Given the description of an element on the screen output the (x, y) to click on. 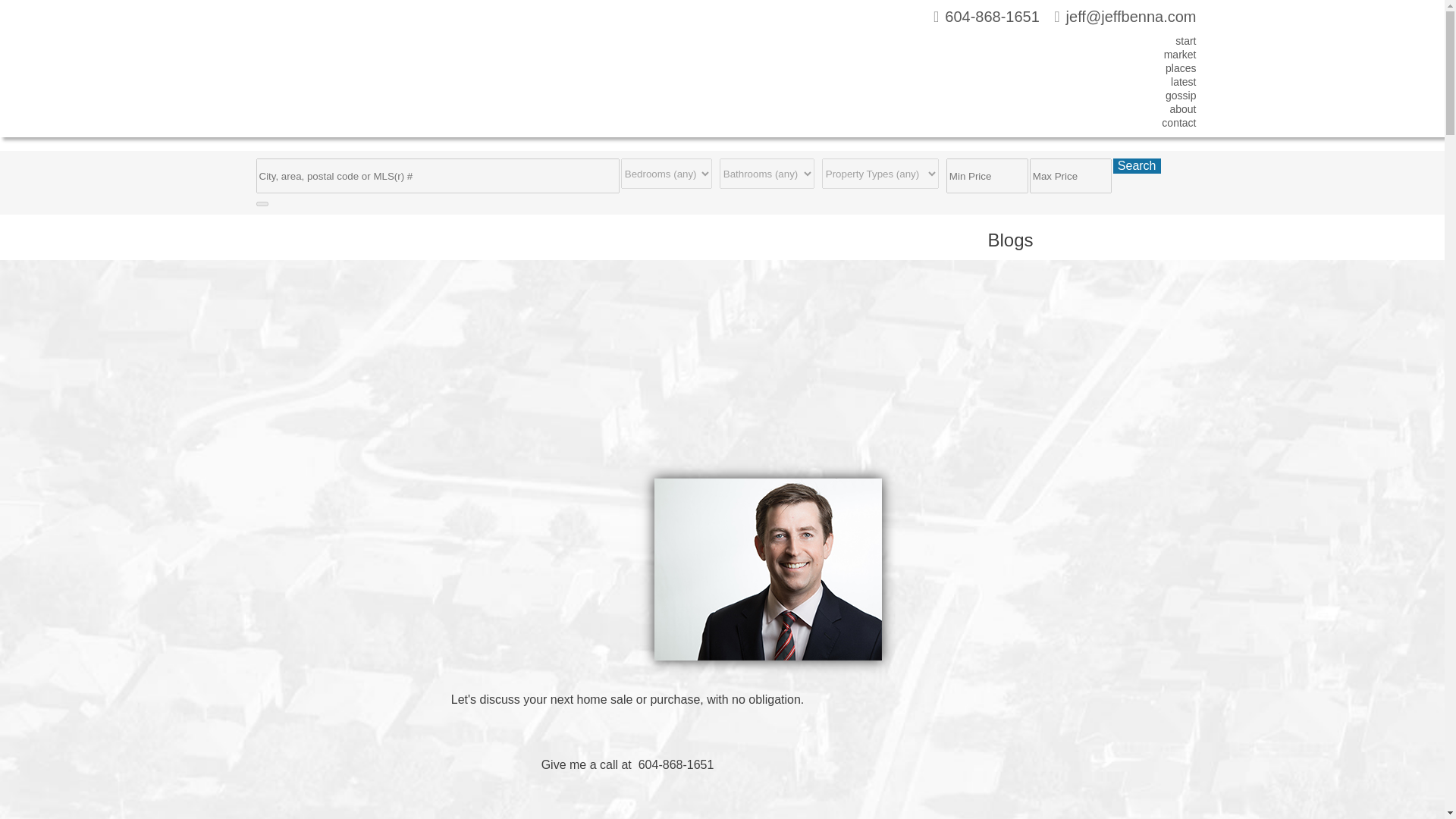
contact (1171, 126)
Search (1136, 165)
RSS (263, 269)
Downtown VW, Vancouver West (392, 349)
June 2023 (1015, 816)
August 2024 (1021, 468)
July 2024 (1013, 493)
About me (1013, 289)
April 2024 (1014, 568)
January 2024 (1024, 644)
